Given the description of an element on the screen output the (x, y) to click on. 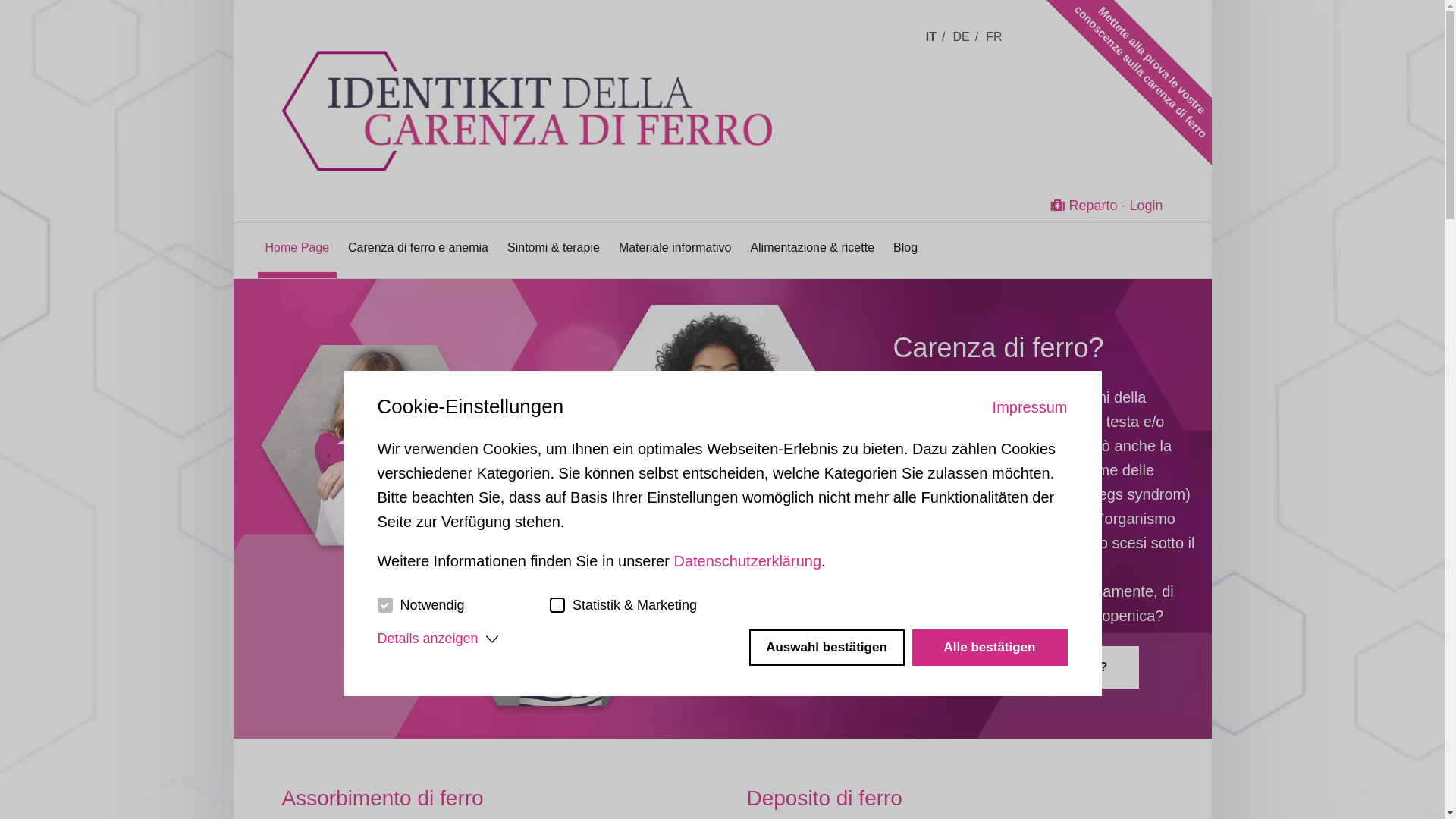
DE Element type: text (965, 36)
Sintomi & terapie Element type: text (553, 247)
Home Page Element type: text (297, 247)
Carenza di ferro e anemia Element type: text (418, 247)
Reparto - Login Element type: text (1106, 205)
Zur Startseite Element type: hover (559, 85)
Blog Element type: text (905, 247)
FR Element type: text (996, 36)
Materiale informativo Element type: text (674, 247)
Impressum Element type: text (1029, 406)
Alimentazione & ricette Element type: text (811, 247)
IT Element type: text (935, 36)
